Given the description of an element on the screen output the (x, y) to click on. 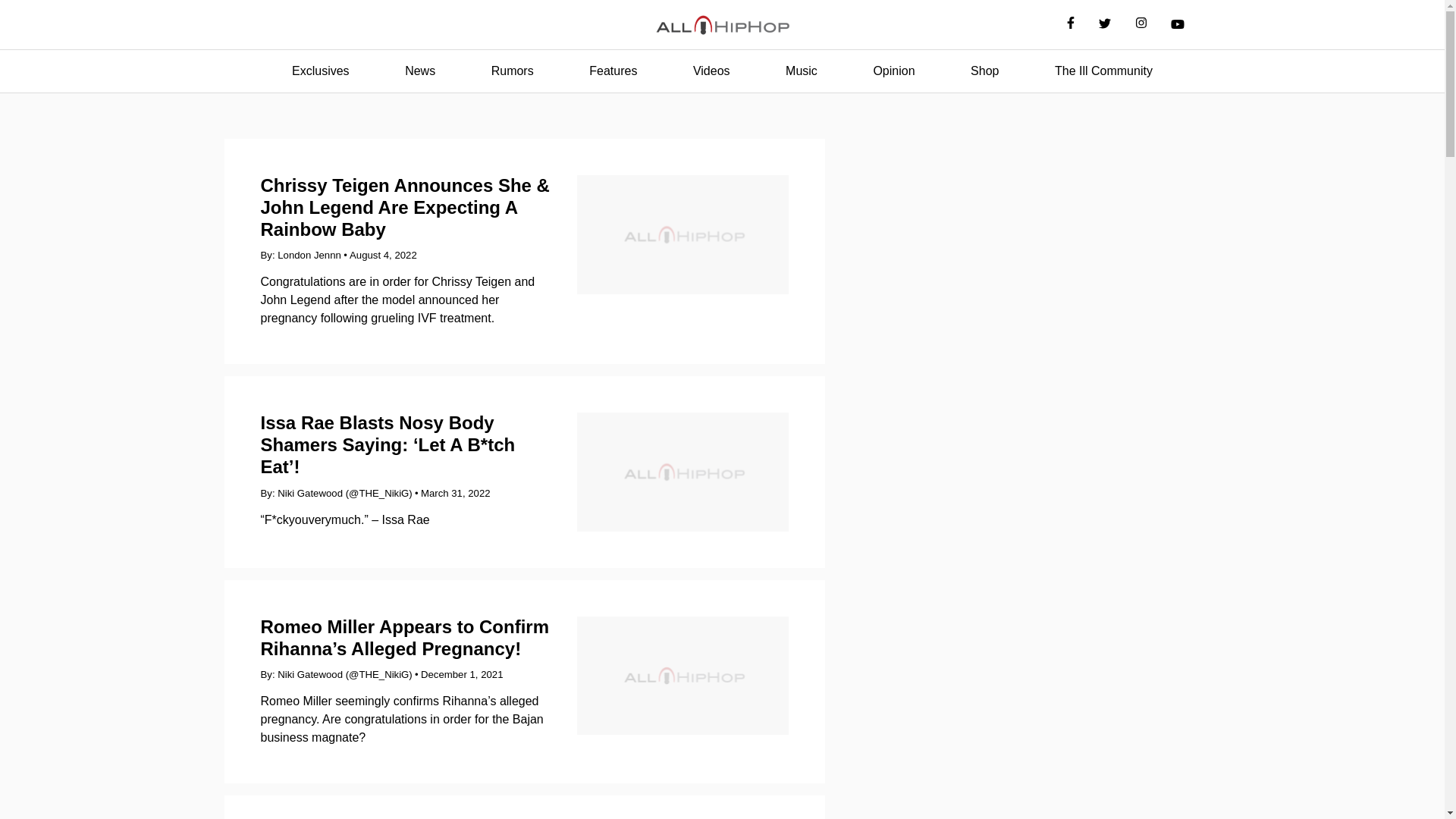
Rumors (512, 70)
Videos (711, 70)
Exclusives (320, 70)
Opinion (893, 70)
August 4, 2022 (382, 255)
News (419, 70)
The Ill Community (1103, 70)
Shop (984, 70)
Features (612, 70)
Music (801, 70)
